Given the description of an element on the screen output the (x, y) to click on. 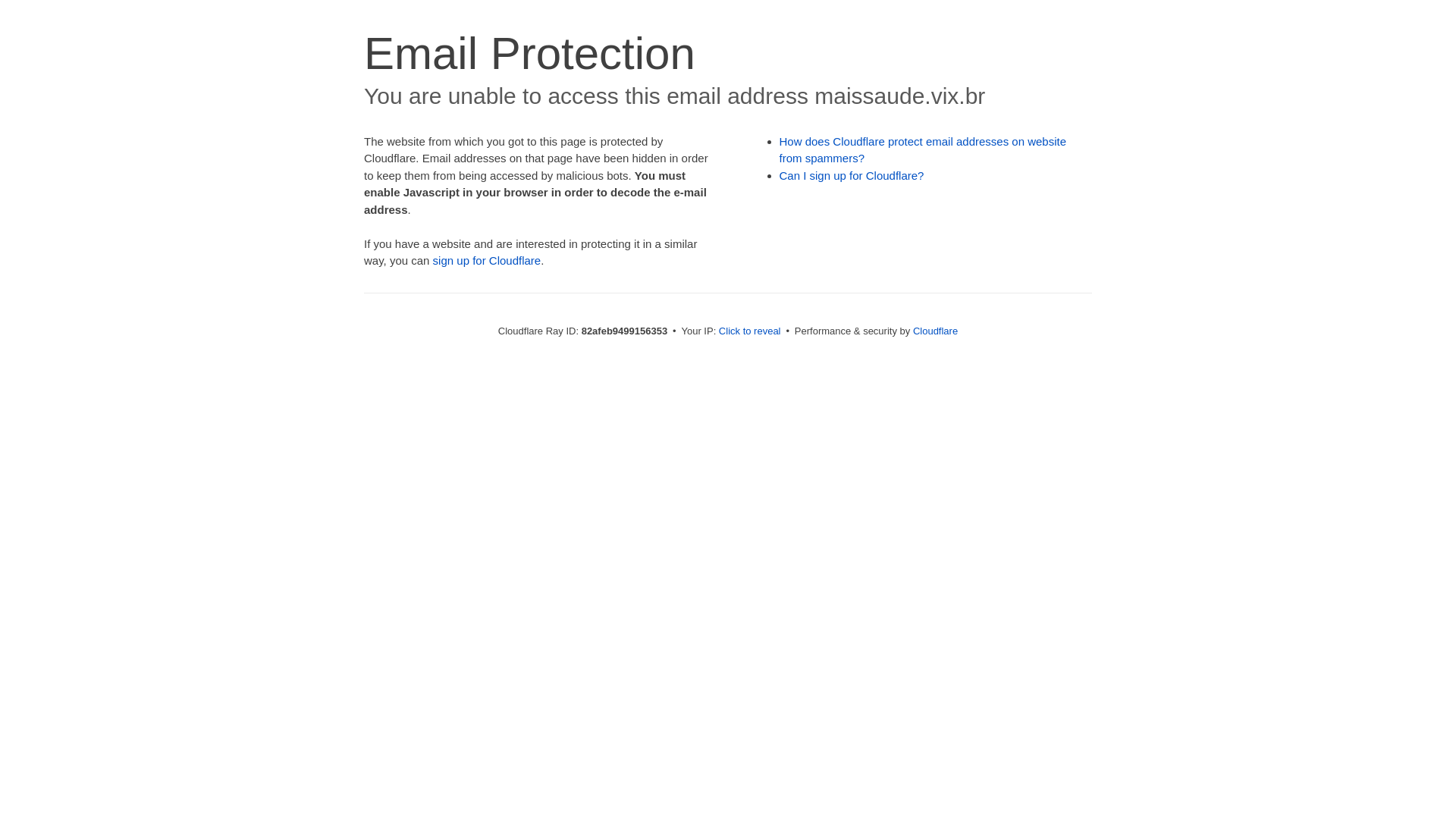
sign up for Cloudflare Element type: text (487, 260)
Click to reveal Element type: text (749, 330)
Cloudflare Element type: text (935, 330)
Can I sign up for Cloudflare? Element type: text (851, 175)
